Given the description of an element on the screen output the (x, y) to click on. 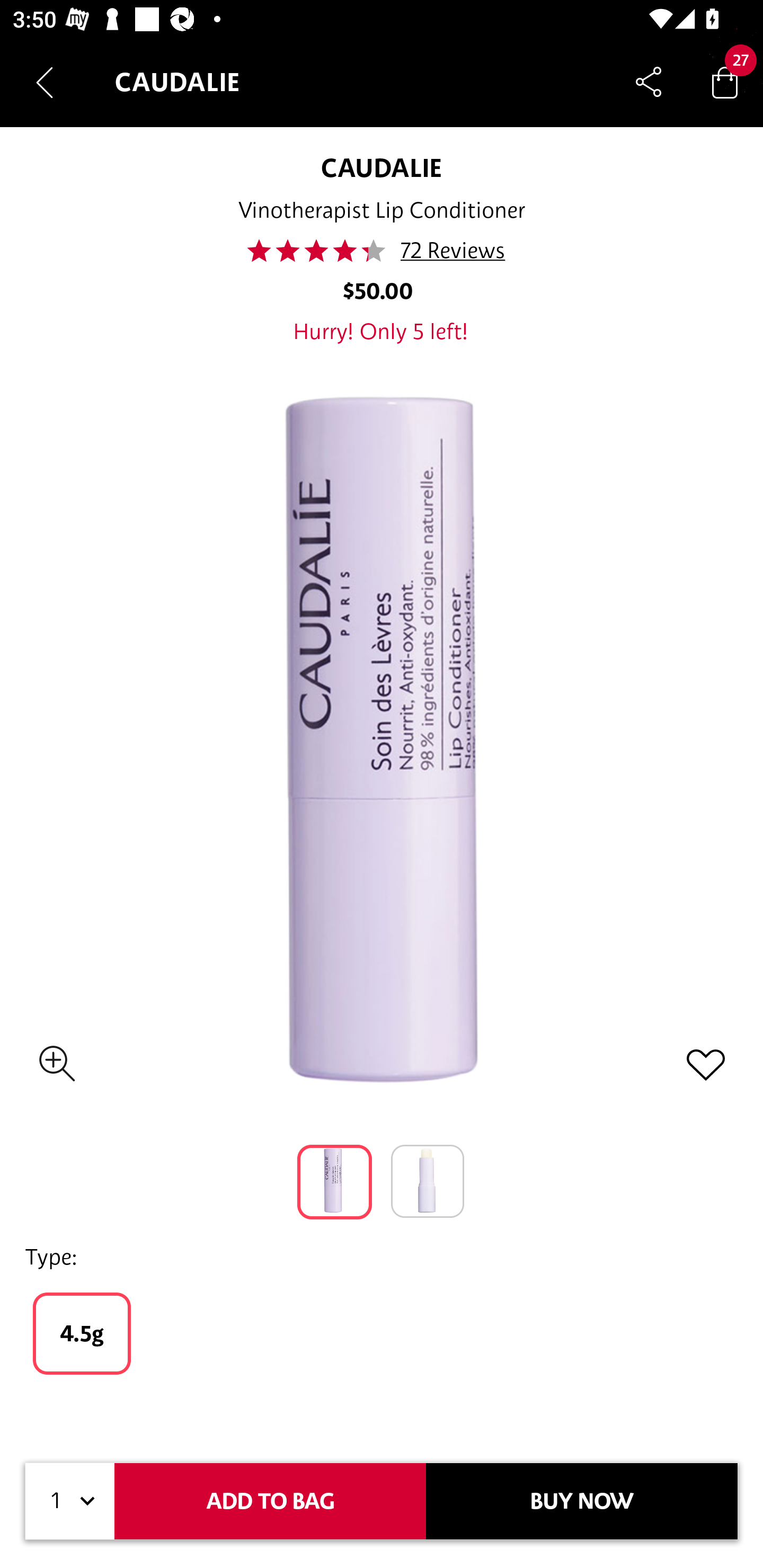
Navigate up (44, 82)
Share (648, 81)
Bag (724, 81)
CAUDALIE (380, 167)
43.0 72 Reviews (381, 250)
4.5g (81, 1333)
1 (69, 1500)
ADD TO BAG (269, 1500)
BUY NOW (581, 1500)
